Given the description of an element on the screen output the (x, y) to click on. 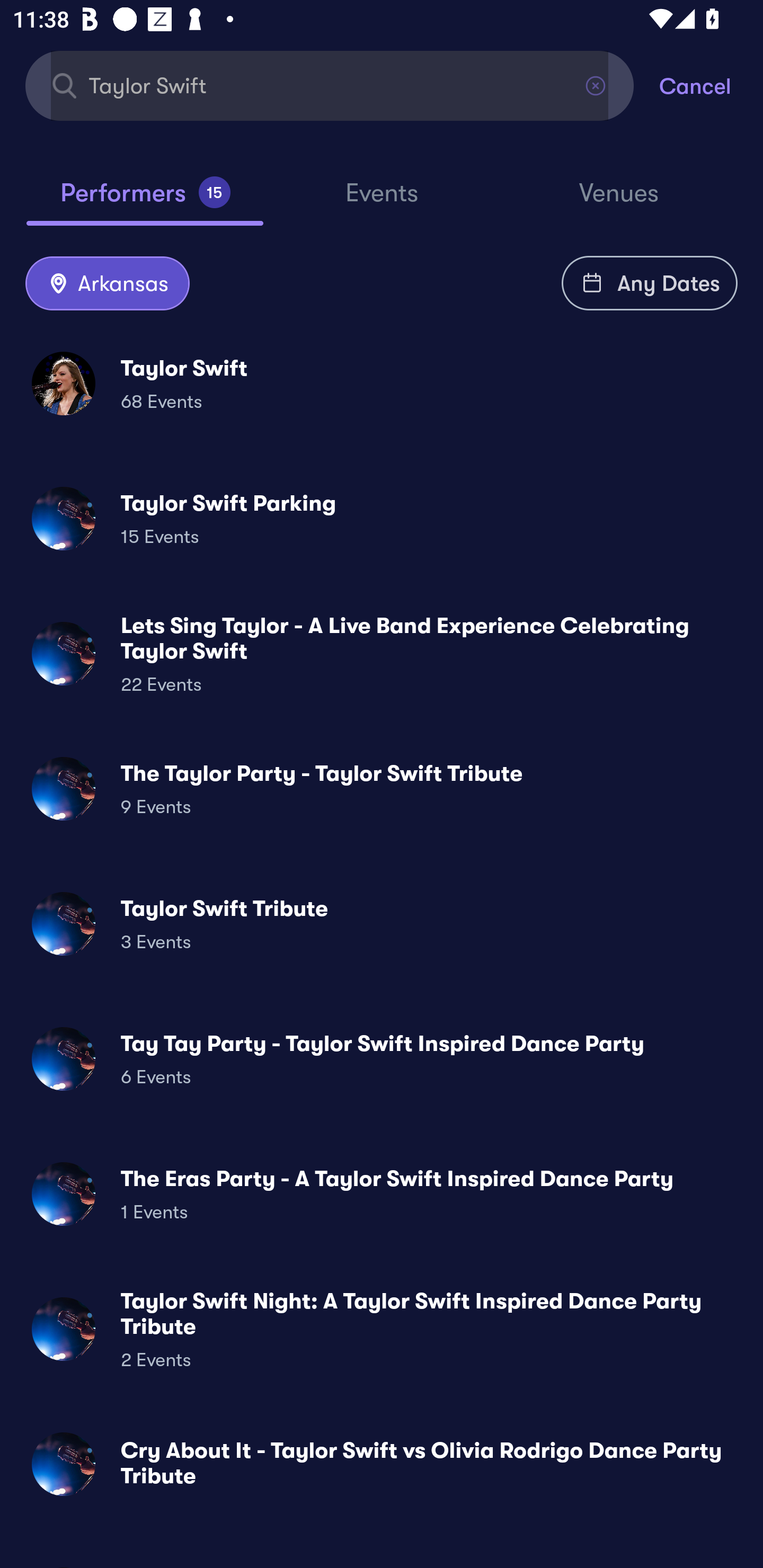
Taylor Swift Find (329, 85)
Taylor Swift Find (329, 85)
Cancel (711, 85)
Performers 15 (144, 200)
Events (381, 201)
Venues (618, 201)
Any Dates (649, 282)
Arkansas (107, 283)
Taylor Swift 68 Events (381, 383)
Taylor Swift Parking 15 Events (381, 518)
The Taylor Party - Taylor Swift Tribute 9 Events (381, 788)
Taylor Swift Tribute 3 Events (381, 924)
